Given the description of an element on the screen output the (x, y) to click on. 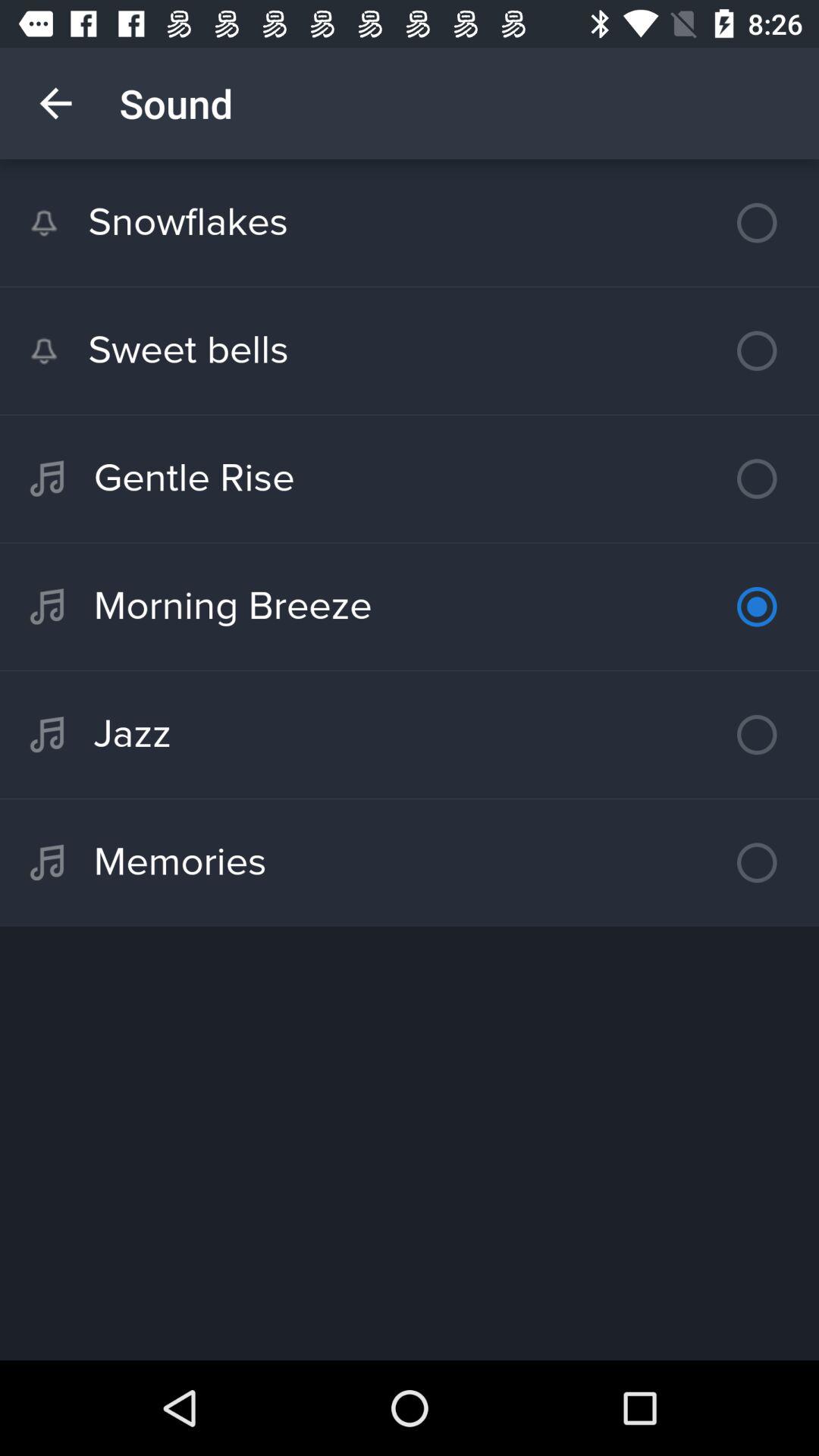
choose item next to sound icon (55, 103)
